Given the description of an element on the screen output the (x, y) to click on. 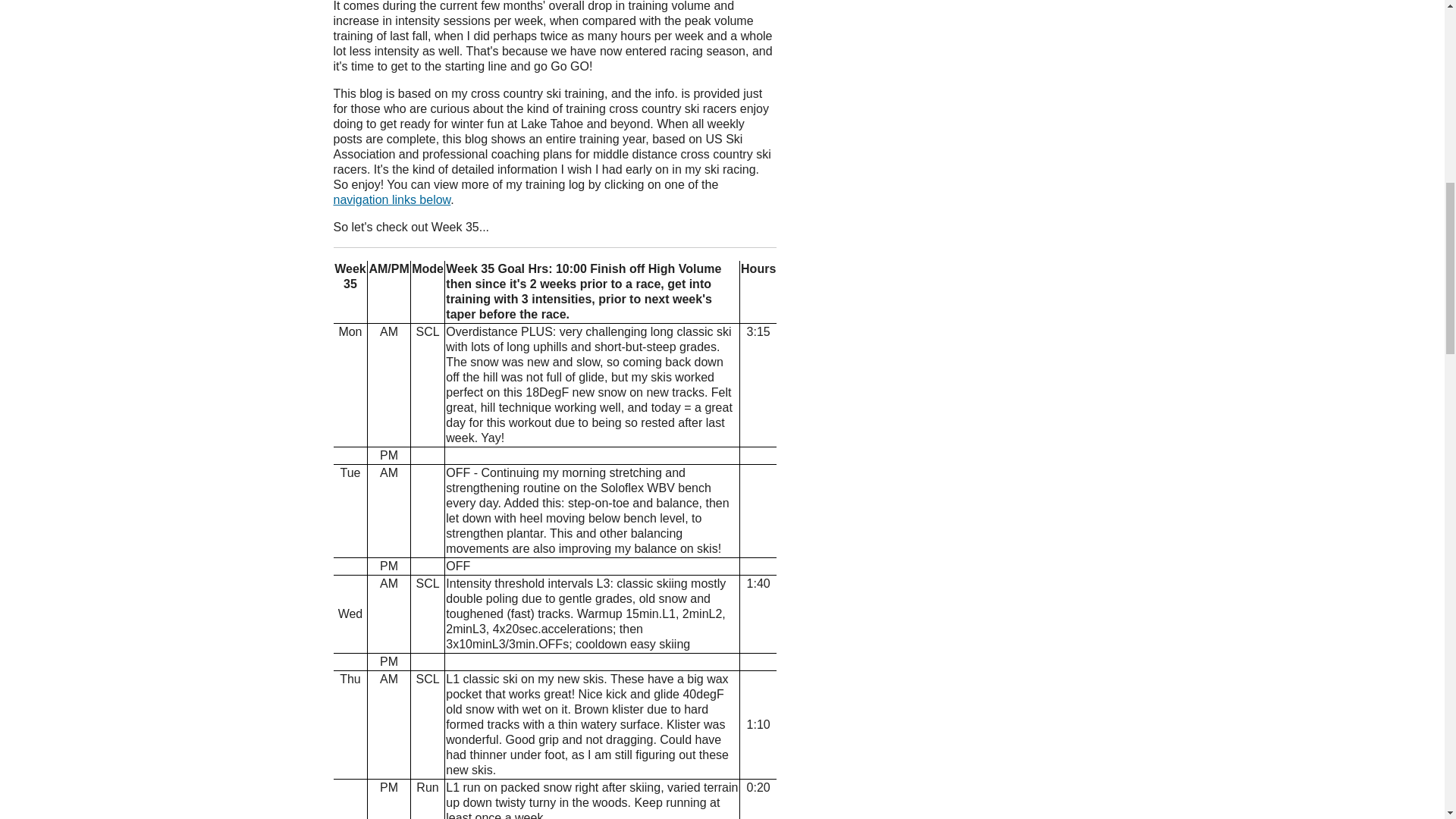
navigation links below (392, 199)
